Given the description of an element on the screen output the (x, y) to click on. 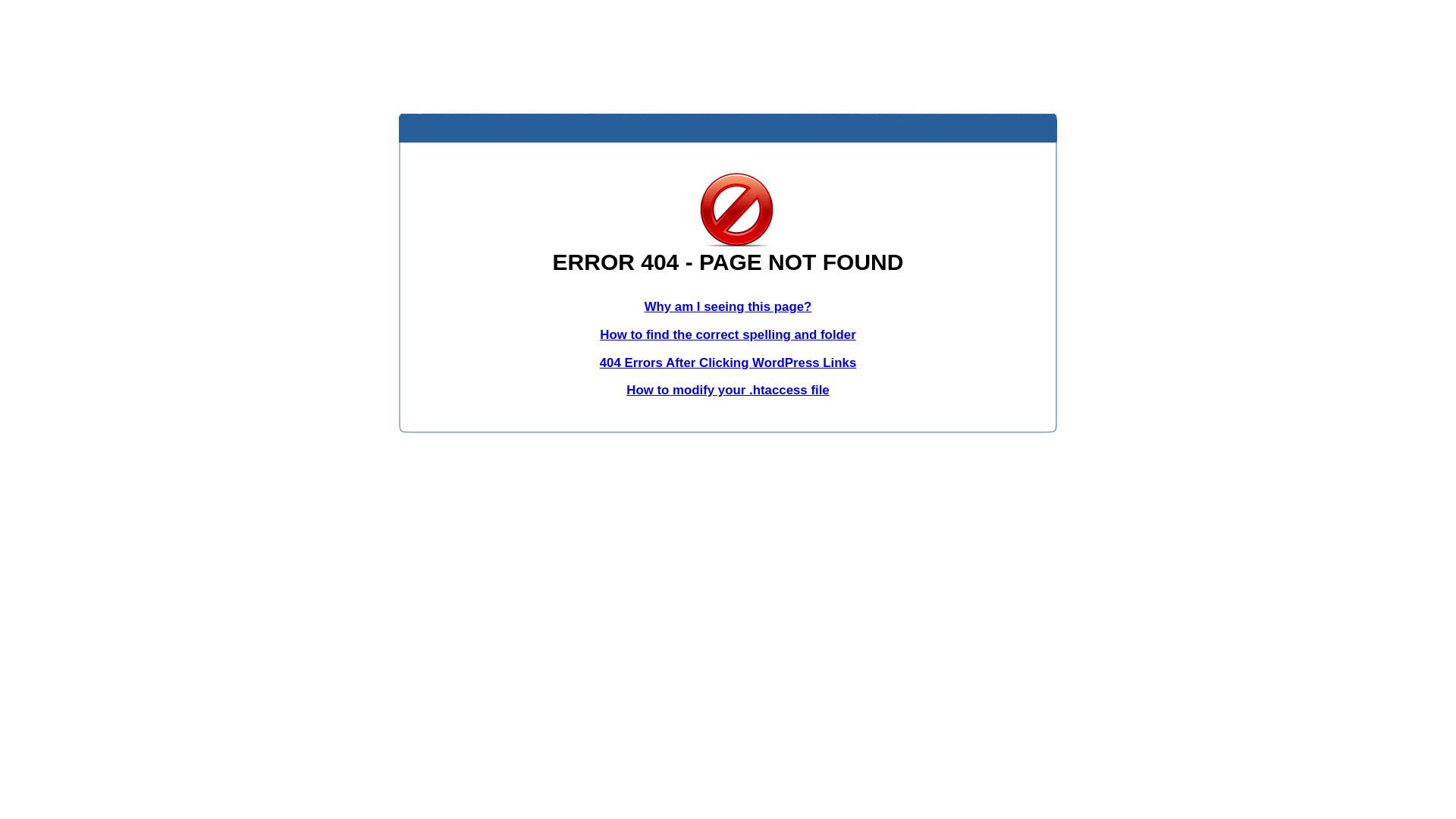
Why am I seeing this page? Element type: text (728, 306)
How to modify your .htaccess file Element type: text (727, 389)
How to find the correct spelling and folder Element type: text (727, 334)
404 Errors After Clicking WordPress Links Element type: text (727, 362)
